Given the description of an element on the screen output the (x, y) to click on. 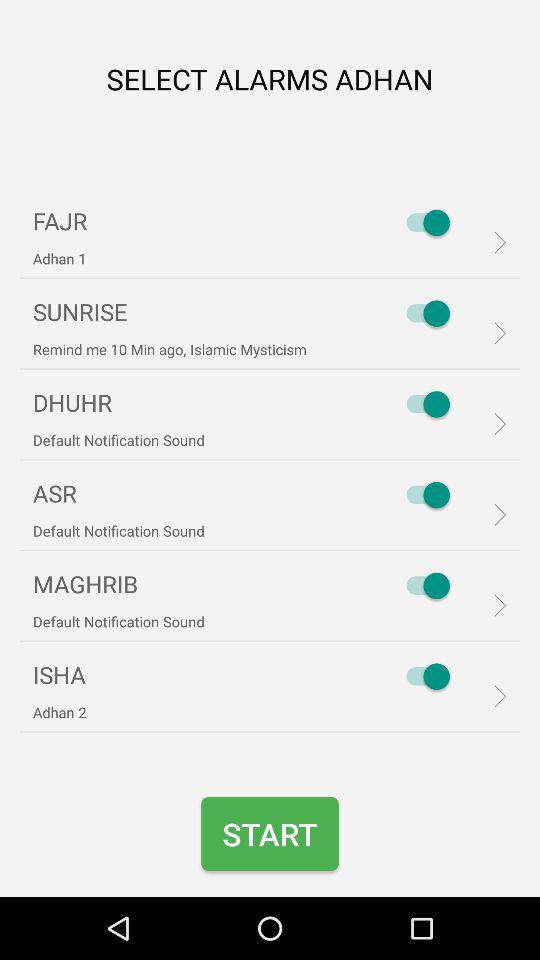
open the item next to remind me 10 item (423, 313)
